Given the description of an element on the screen output the (x, y) to click on. 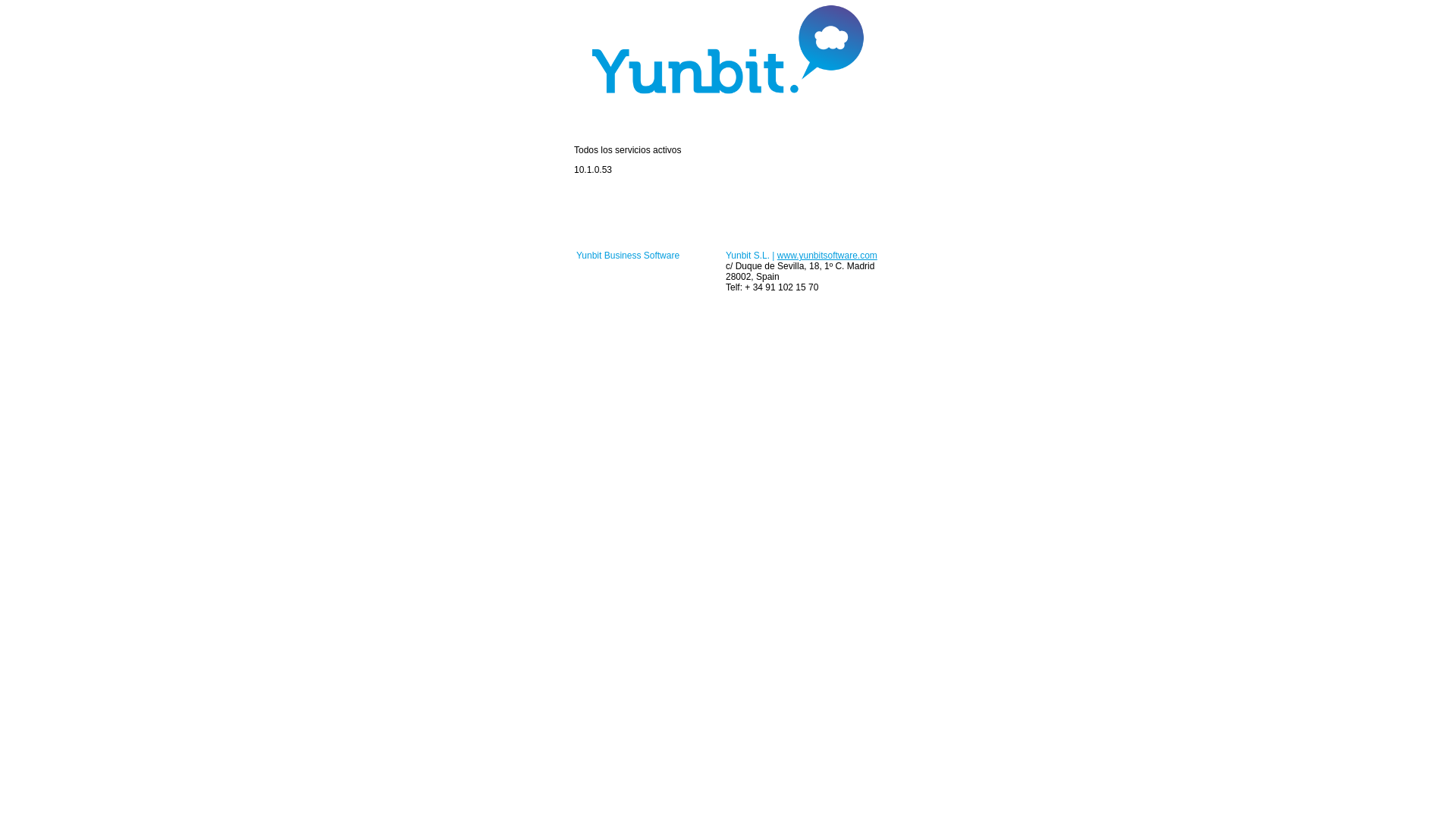
www.yunbitsoftware.com Element type: text (827, 255)
